Given the description of an element on the screen output the (x, y) to click on. 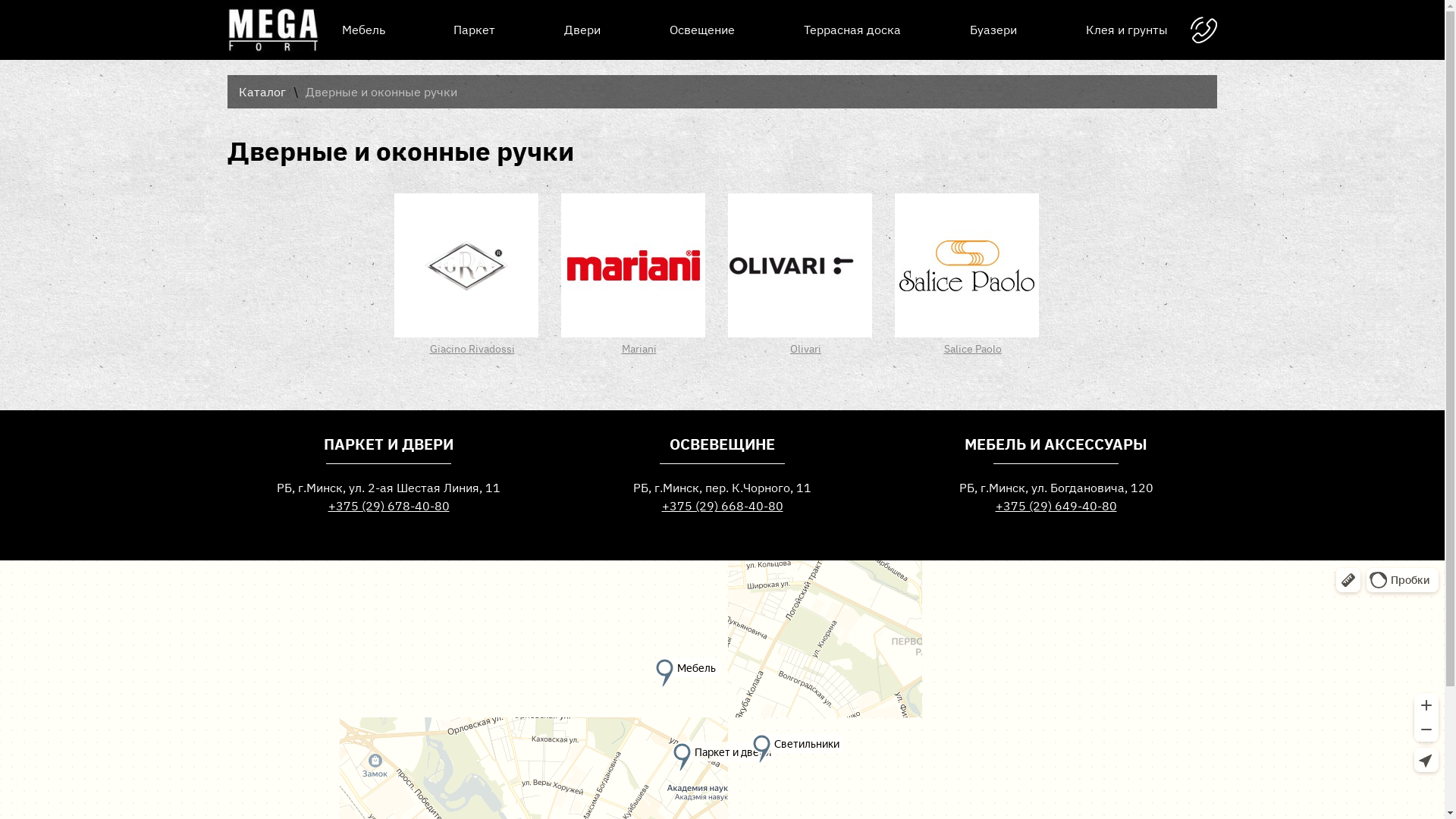
Giacino Rivadossi Element type: text (471, 307)
+375 (29) 668-40-80 Element type: text (721, 505)
+375 (29) 649-40-80 Element type: text (1055, 505)
+375 (29) 678-40-80 Element type: text (387, 505)
Olivari Element type: text (805, 307)
Mariani Element type: text (638, 307)
Salice Paolo Element type: text (972, 307)
